Given the description of an element on the screen output the (x, y) to click on. 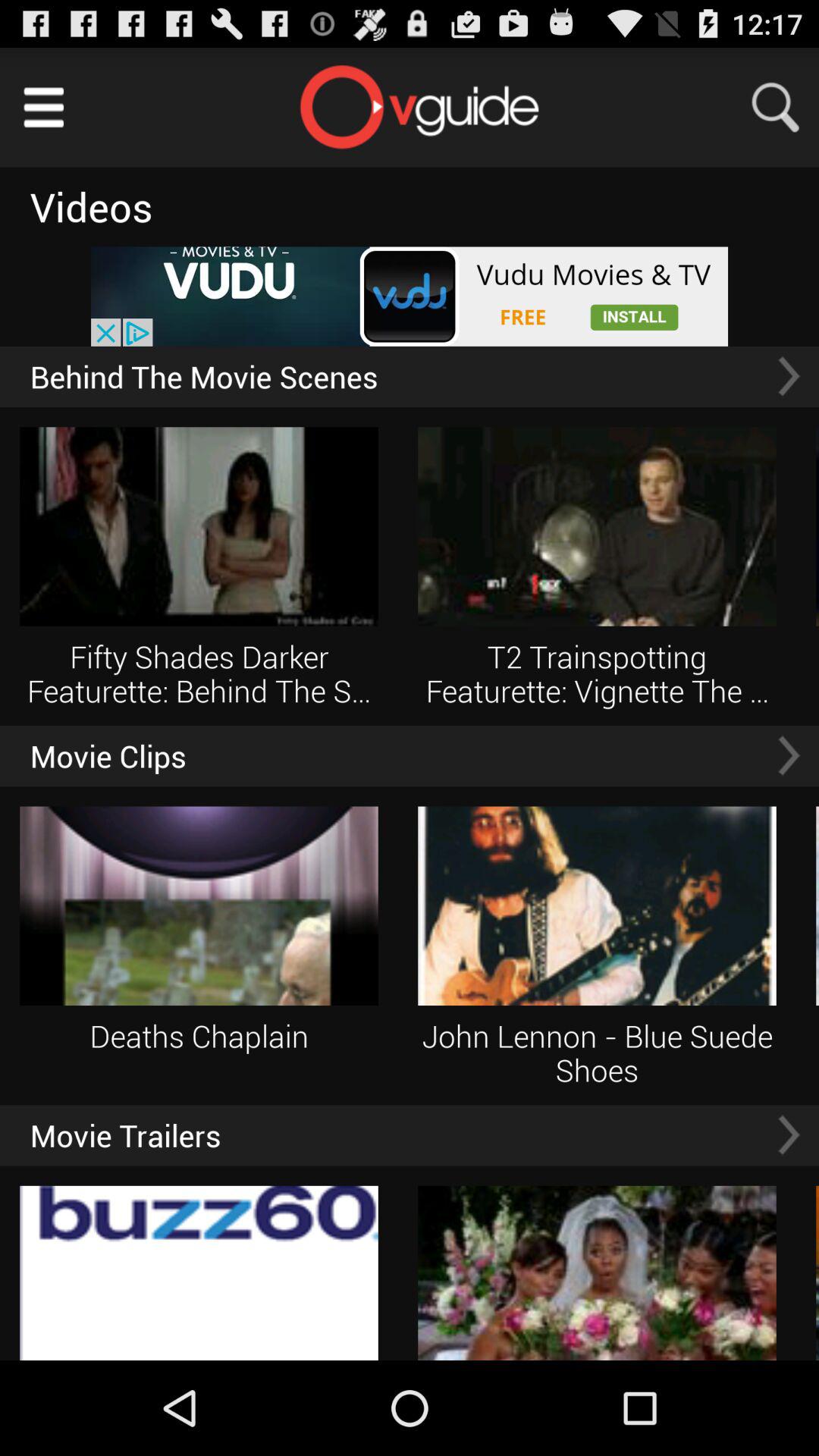
search button (785, 107)
